Given the description of an element on the screen output the (x, y) to click on. 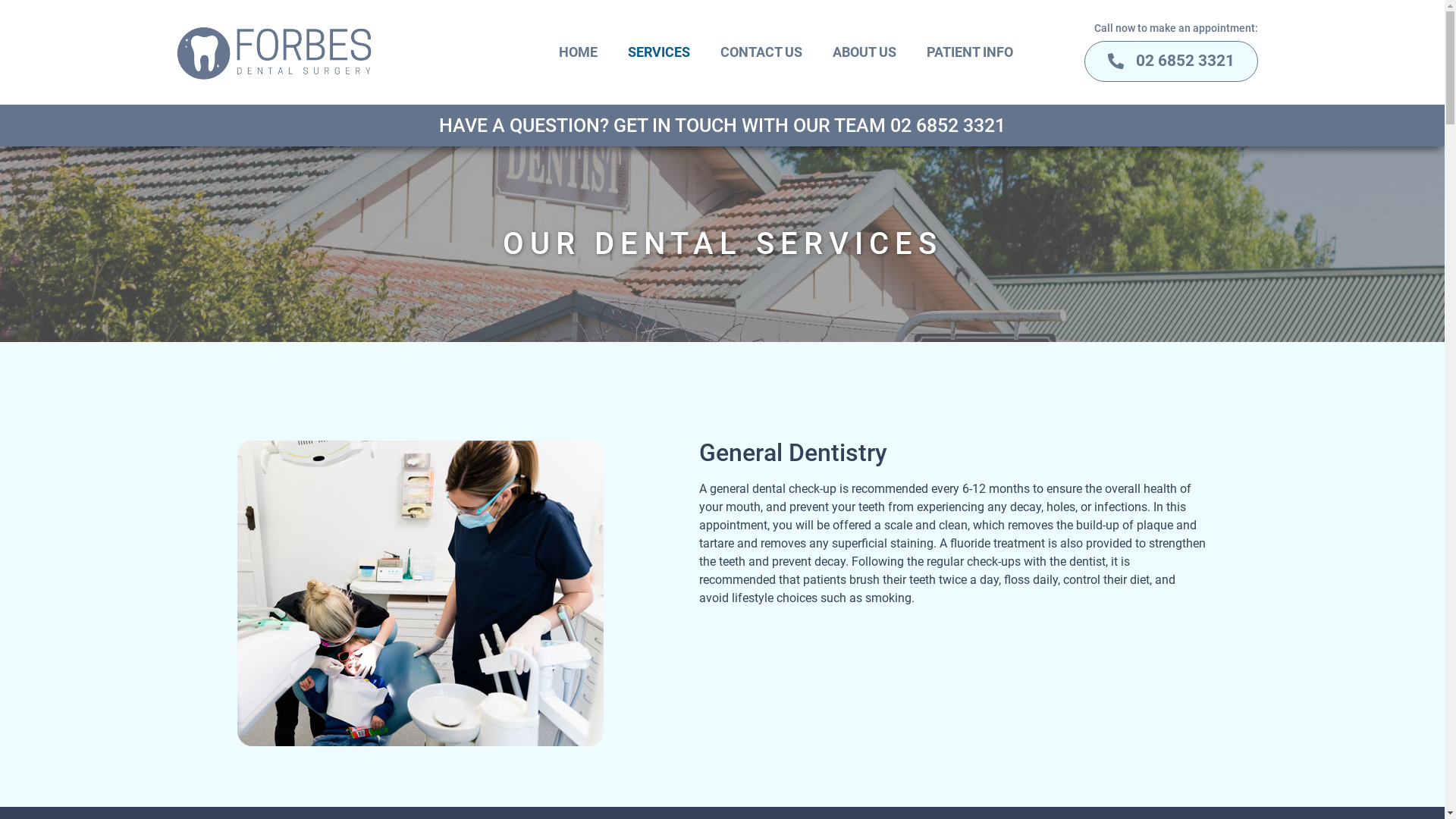
ABOUT US Element type: text (864, 52)
PATIENT INFO Element type: text (969, 52)
SERVICES Element type: text (658, 52)
CONTACT US Element type: text (761, 52)
02 6852 3321 Element type: text (1171, 60)
HOME Element type: text (577, 52)
